Given the description of an element on the screen output the (x, y) to click on. 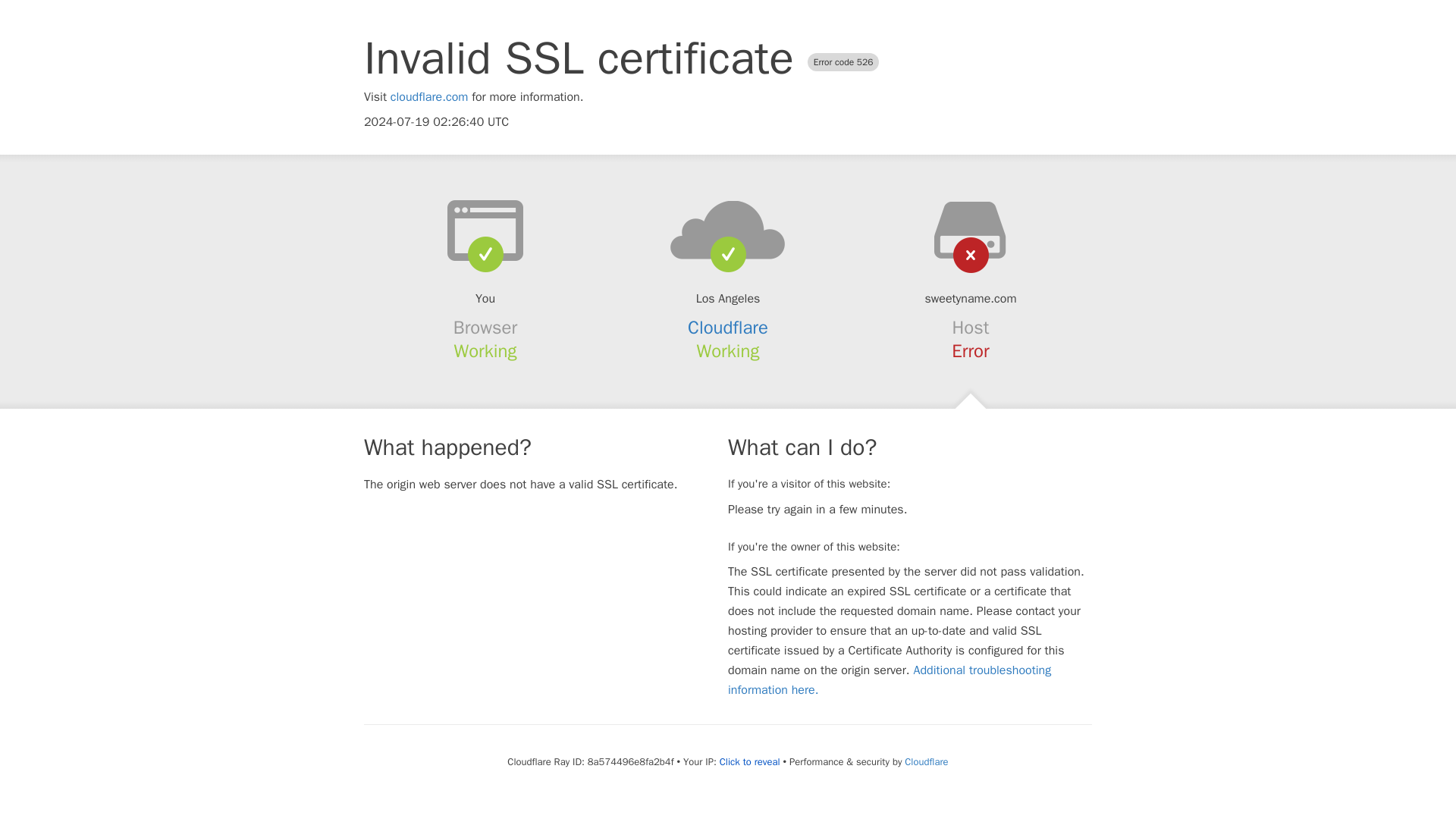
cloudflare.com (429, 96)
Additional troubleshooting information here. (889, 679)
Click to reveal (749, 762)
Cloudflare (727, 327)
Cloudflare (925, 761)
